Given the description of an element on the screen output the (x, y) to click on. 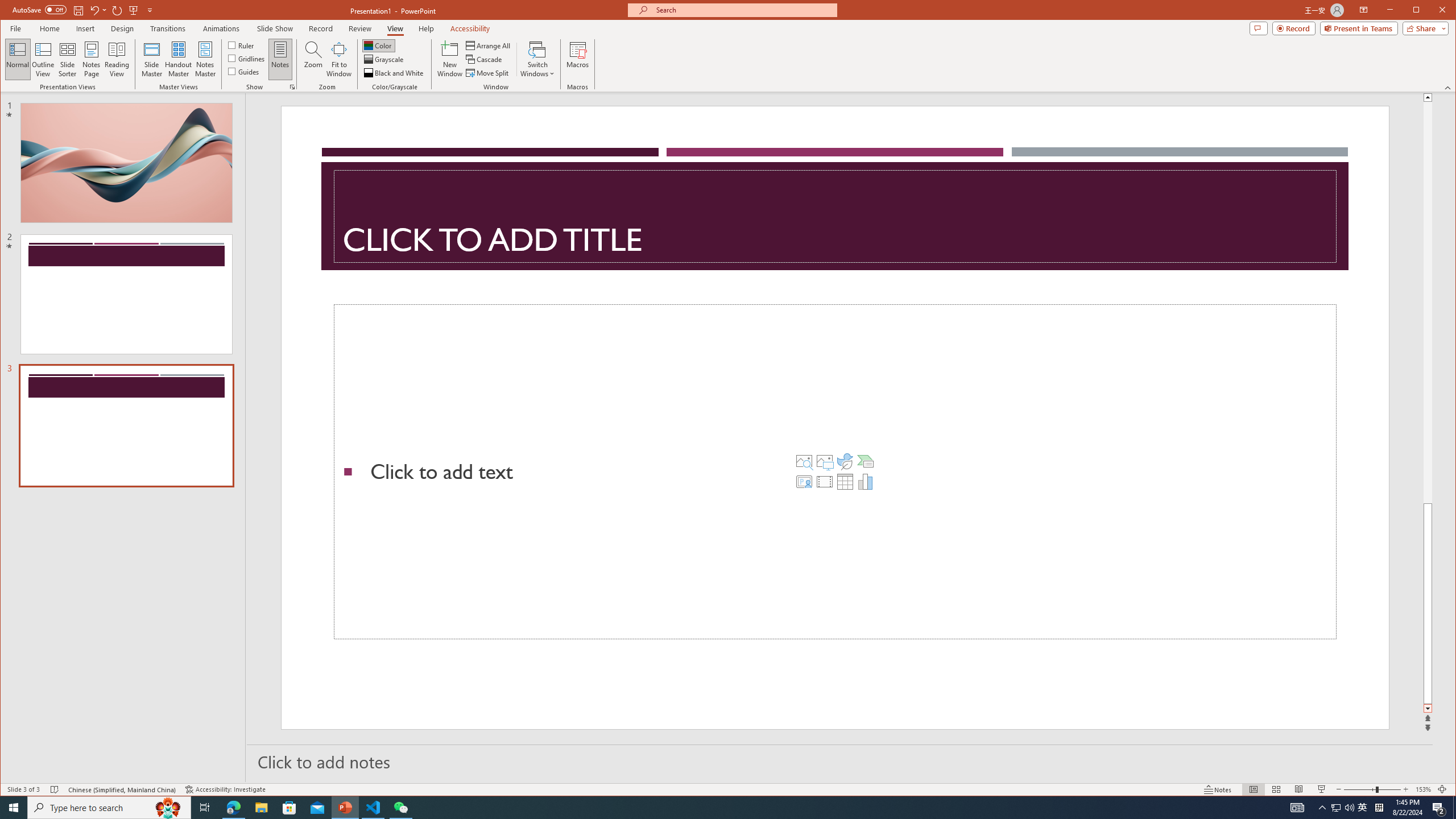
Black and White (394, 72)
Arrange All (488, 45)
Content Placeholder (834, 471)
Handout Master (178, 59)
Guides (243, 70)
